Given the description of an element on the screen output the (x, y) to click on. 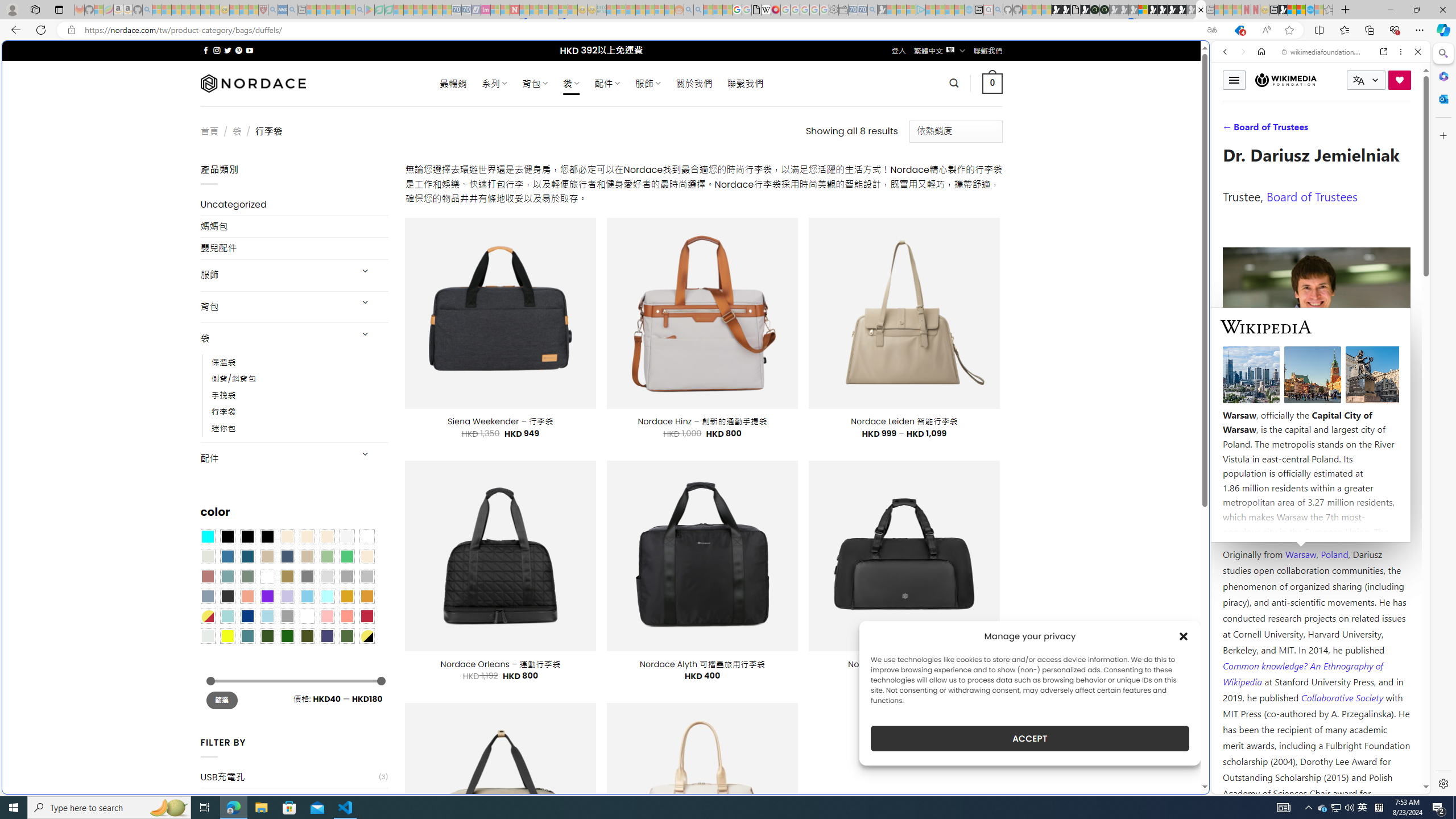
Kozminski University (1316, 486)
